Given the description of an element on the screen output the (x, y) to click on. 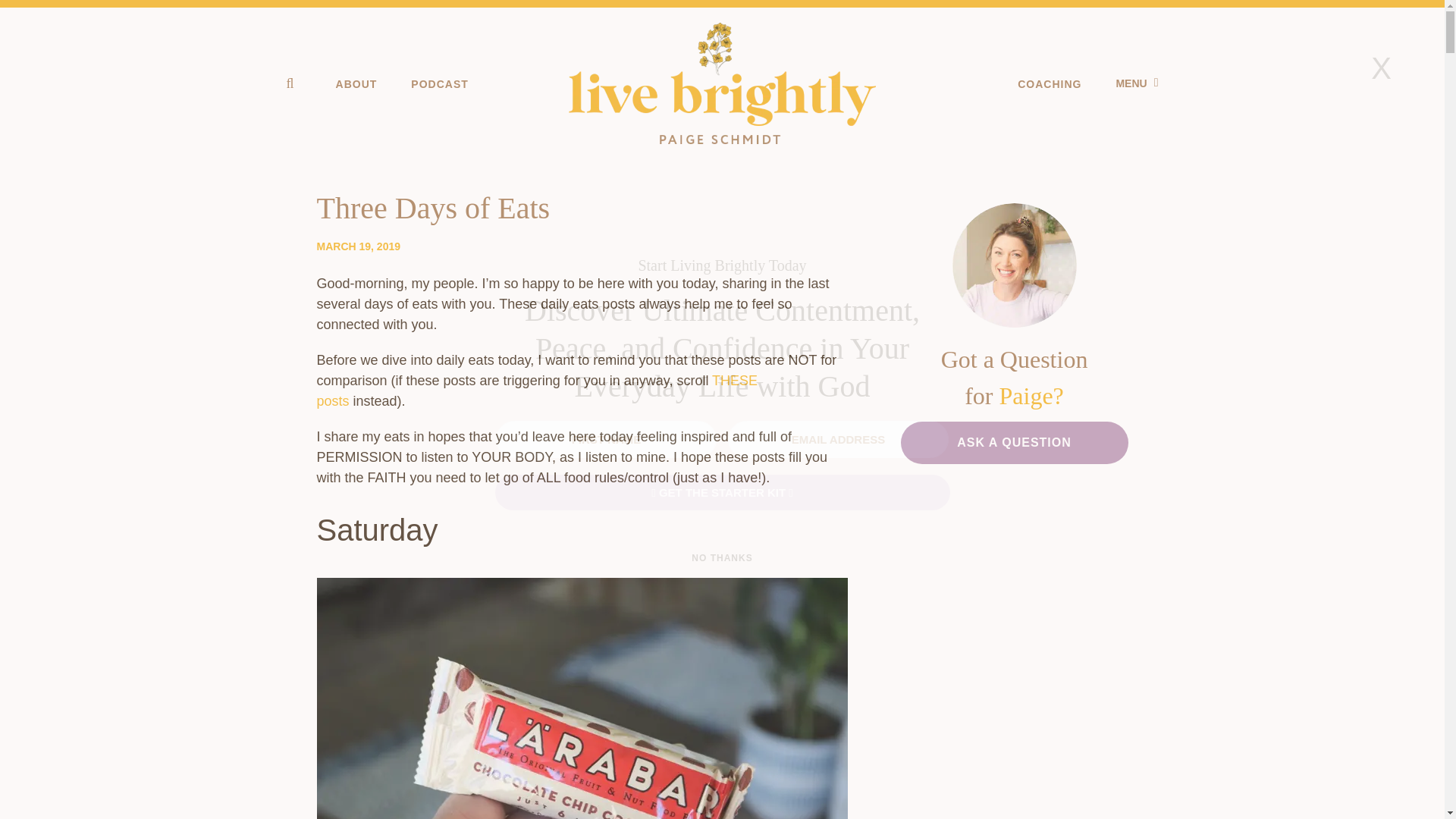
COACHING (1049, 83)
Search (23, 9)
PODCAST (438, 83)
MENU (1136, 83)
ABOUT (356, 83)
THESE posts (537, 390)
